Given the description of an element on the screen output the (x, y) to click on. 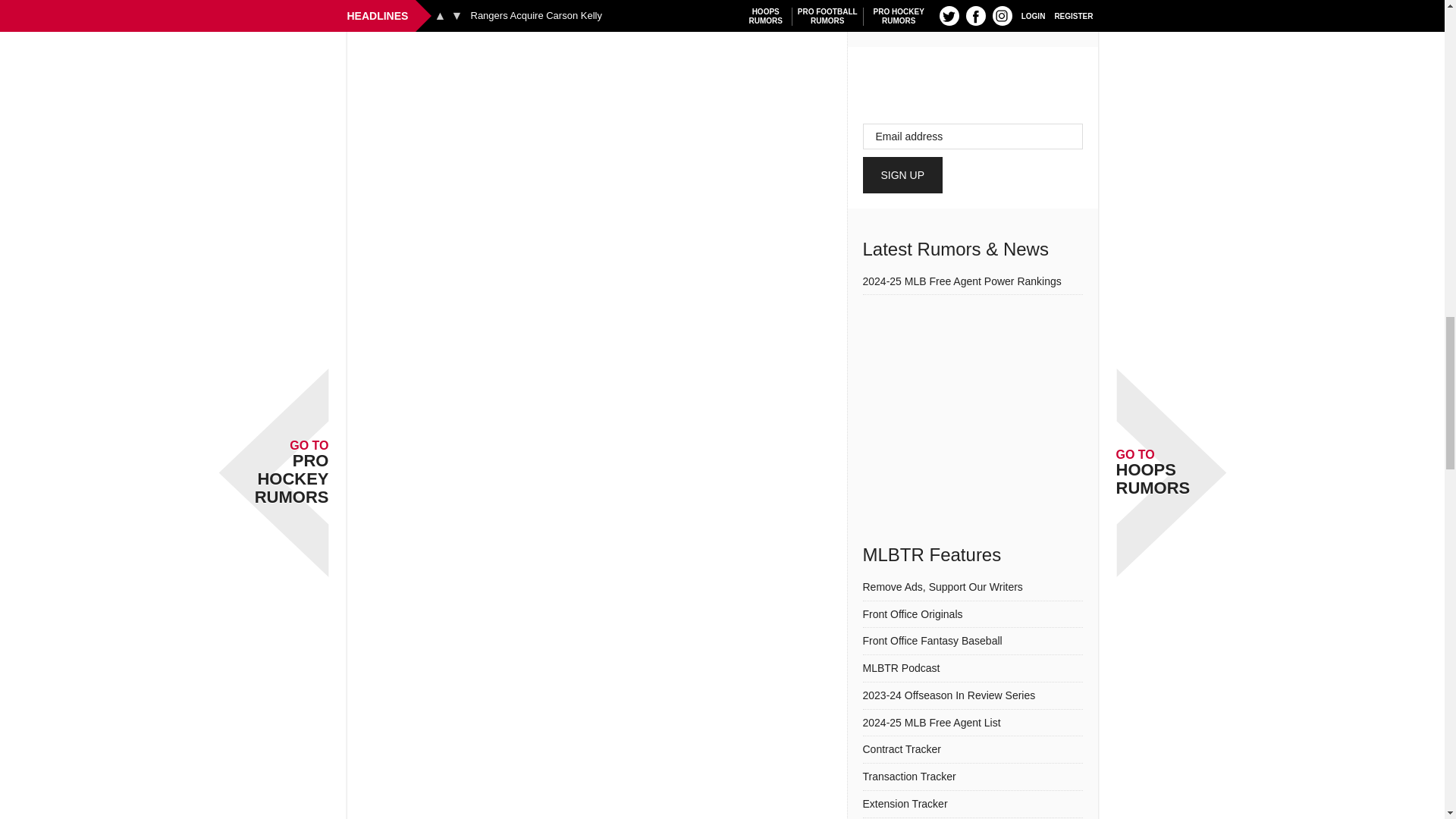
Sign Up (903, 175)
